Given the description of an element on the screen output the (x, y) to click on. 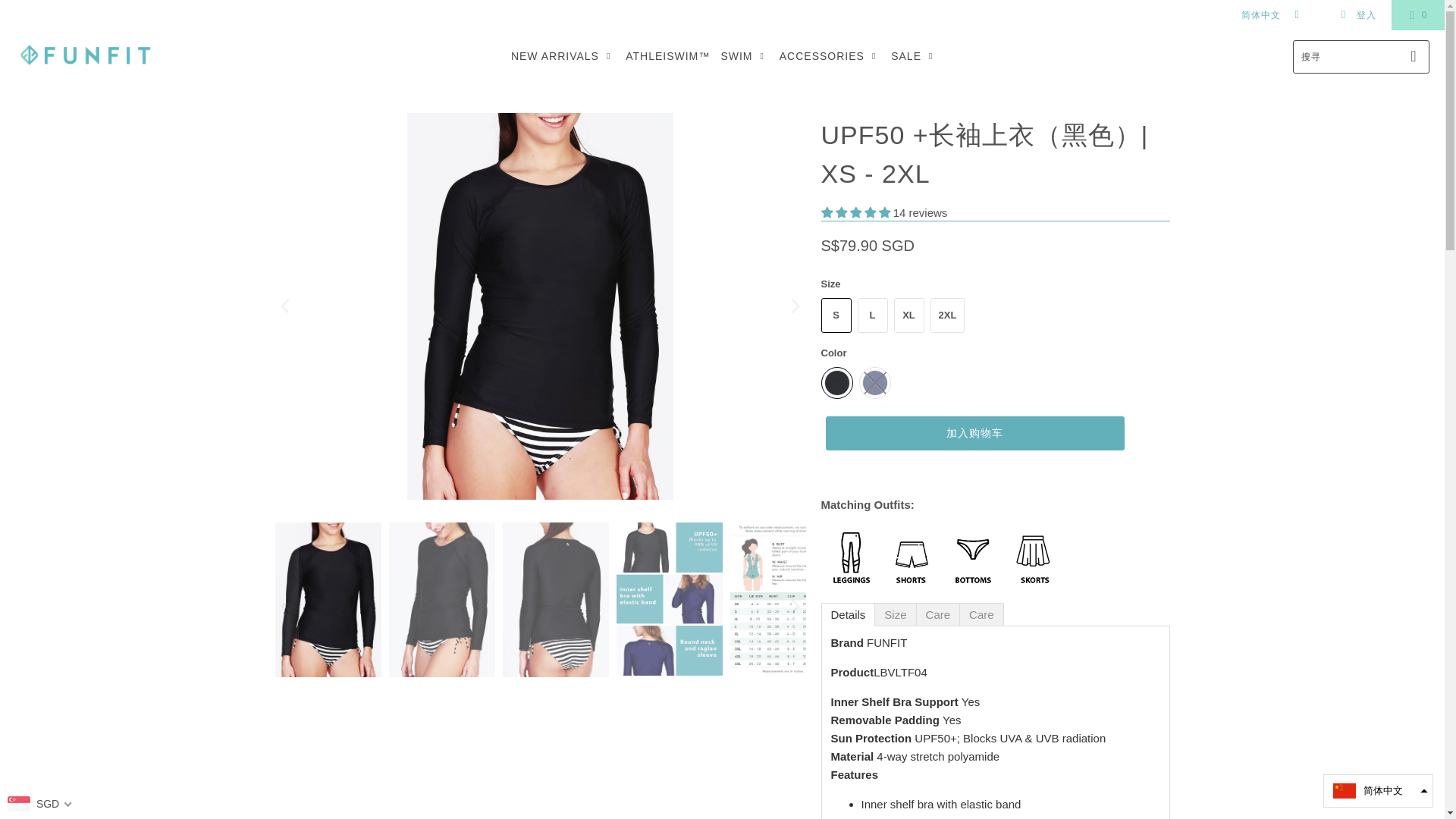
FUNFIT (84, 56)
